Given the description of an element on the screen output the (x, y) to click on. 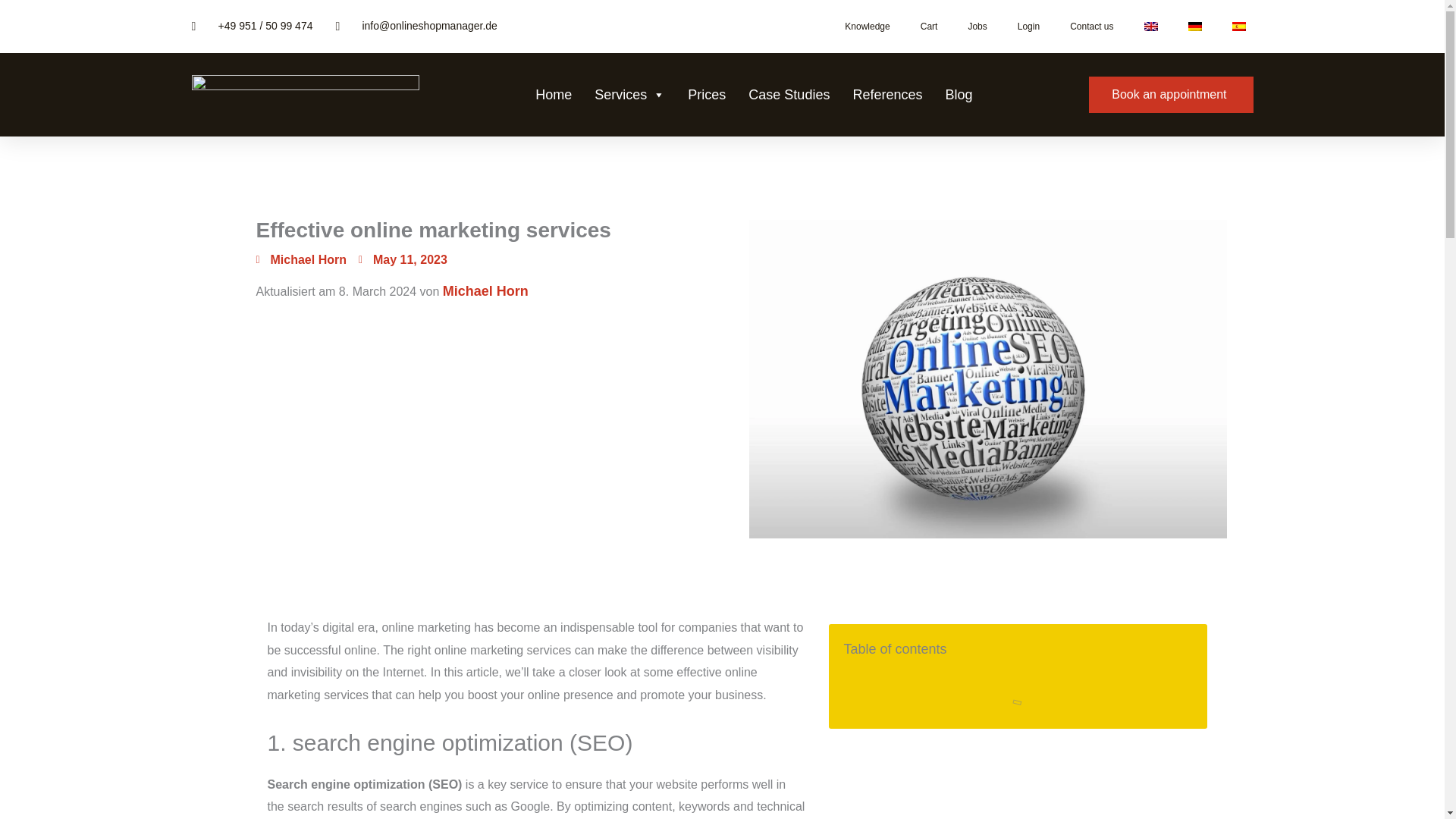
Jobs (976, 26)
Services (630, 94)
Login (1028, 26)
Knowledge (866, 26)
Cart (929, 26)
Home (553, 94)
Contact us (1091, 26)
